Given the description of an element on the screen output the (x, y) to click on. 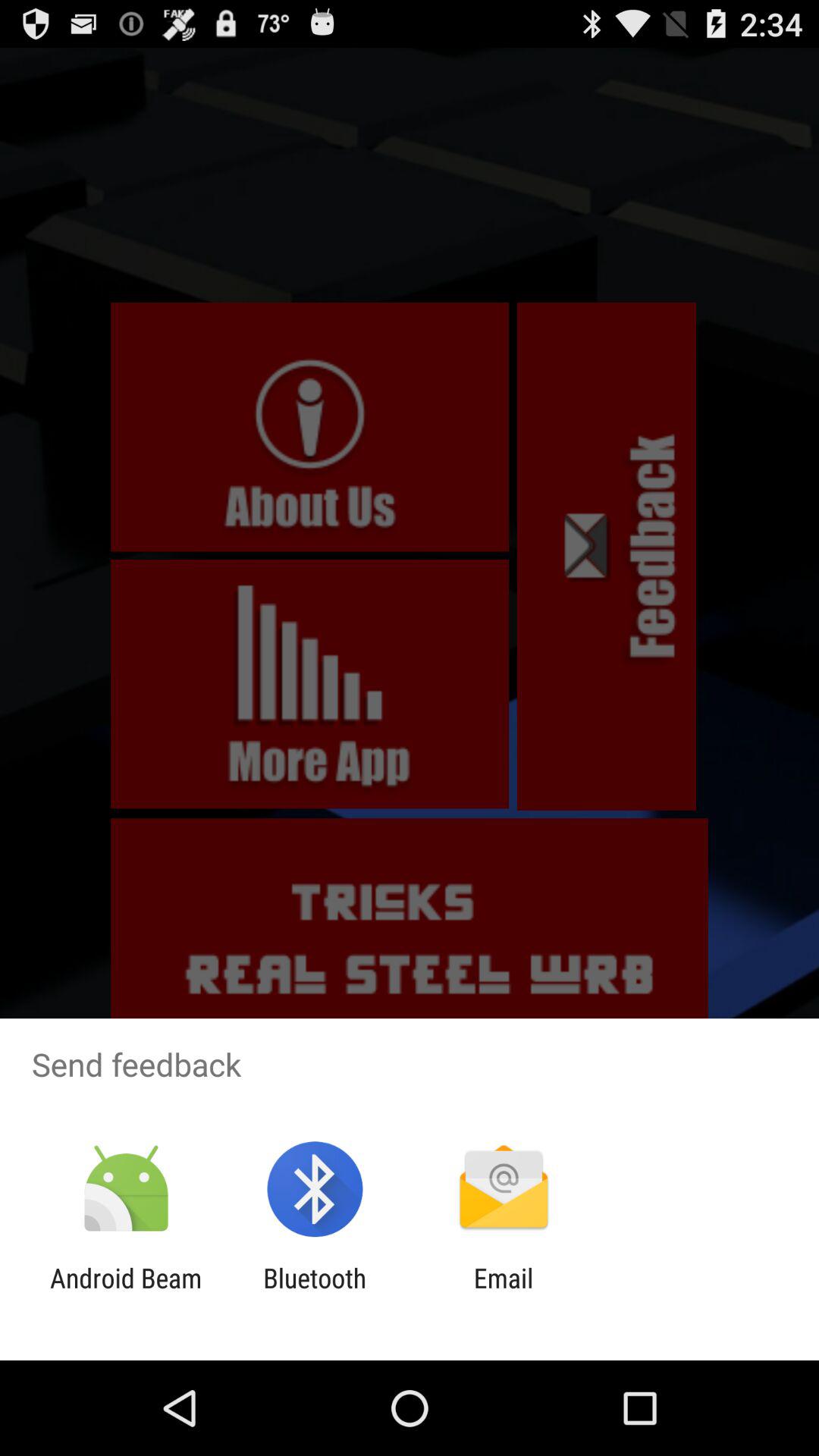
scroll to android beam item (125, 1293)
